Given the description of an element on the screen output the (x, y) to click on. 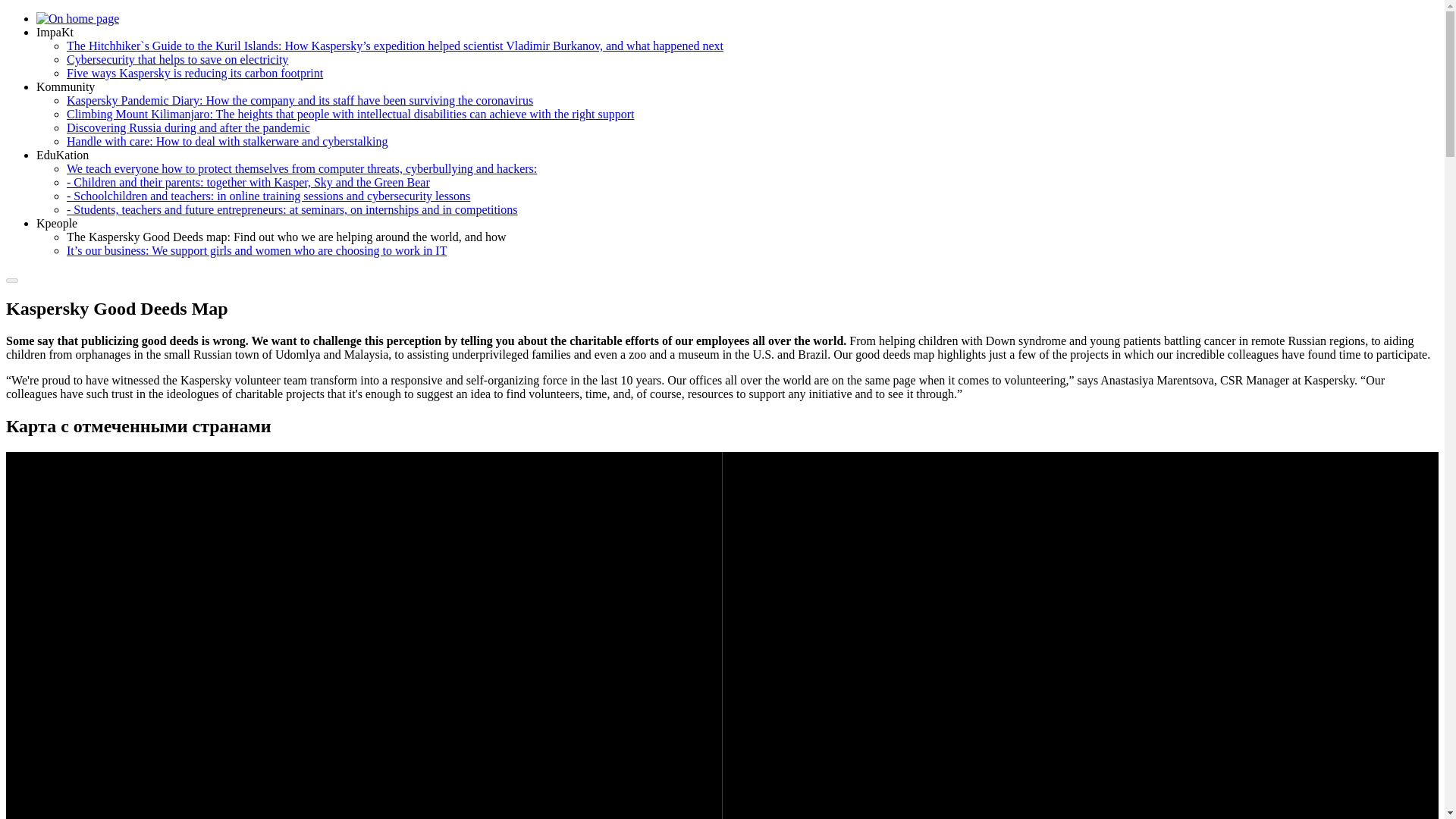
Discovering Russia during and after the pandemic (188, 127)
Cybersecurity that helps to save on electricity (177, 59)
Five ways Kaspersky is reducing its carbon footprint (194, 72)
